Given the description of an element on the screen output the (x, y) to click on. 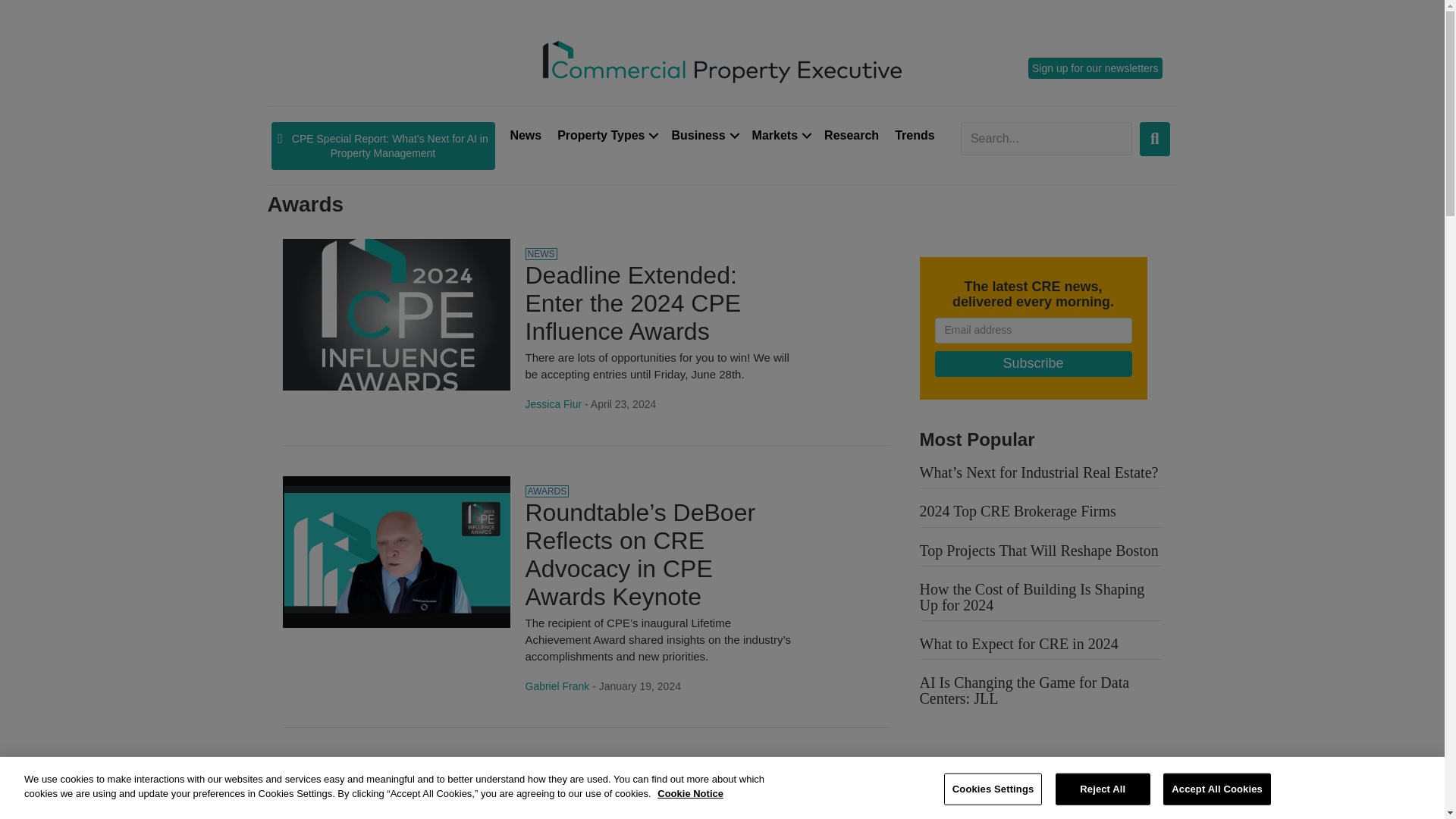
News (525, 135)
Deadline Extended: Enter the 2024 CPE Influence Awards (632, 302)
Property Types (606, 135)
CPE Announces 2023 Influence Award Winners (658, 800)
Business (702, 135)
Markets (779, 135)
Sign up for our newsletters (1094, 67)
Deadline Extended: Enter the 2024 CPE Influence Awards (395, 313)
Subscribe (1032, 363)
CPE-Logo-Transparent (721, 60)
